Given the description of an element on the screen output the (x, y) to click on. 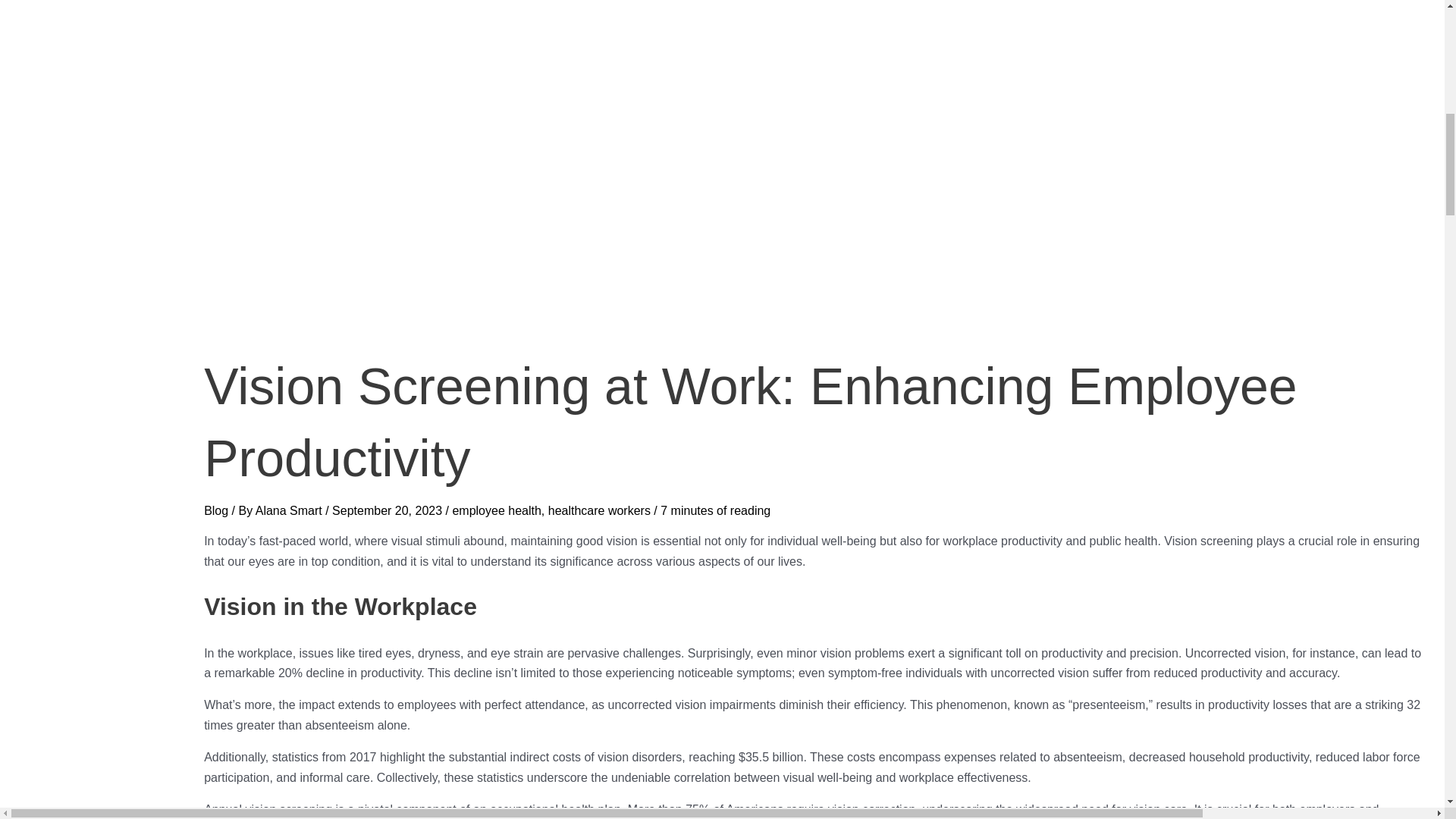
Blog (215, 510)
employee health (495, 510)
Alana Smart (290, 510)
healthcare workers (599, 510)
View all posts by Alana Smart (290, 510)
